Given the description of an element on the screen output the (x, y) to click on. 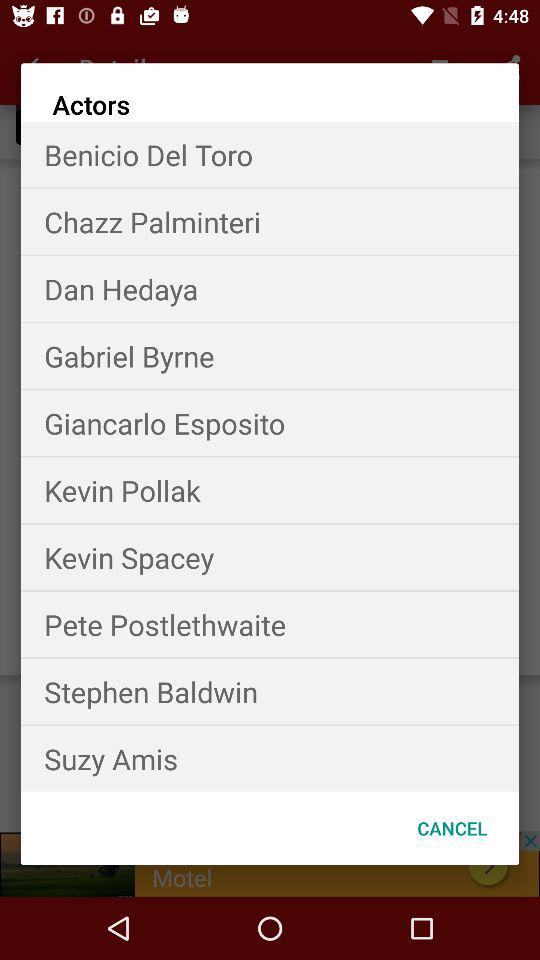
turn off item above    pete postlethwaite icon (269, 557)
